Given the description of an element on the screen output the (x, y) to click on. 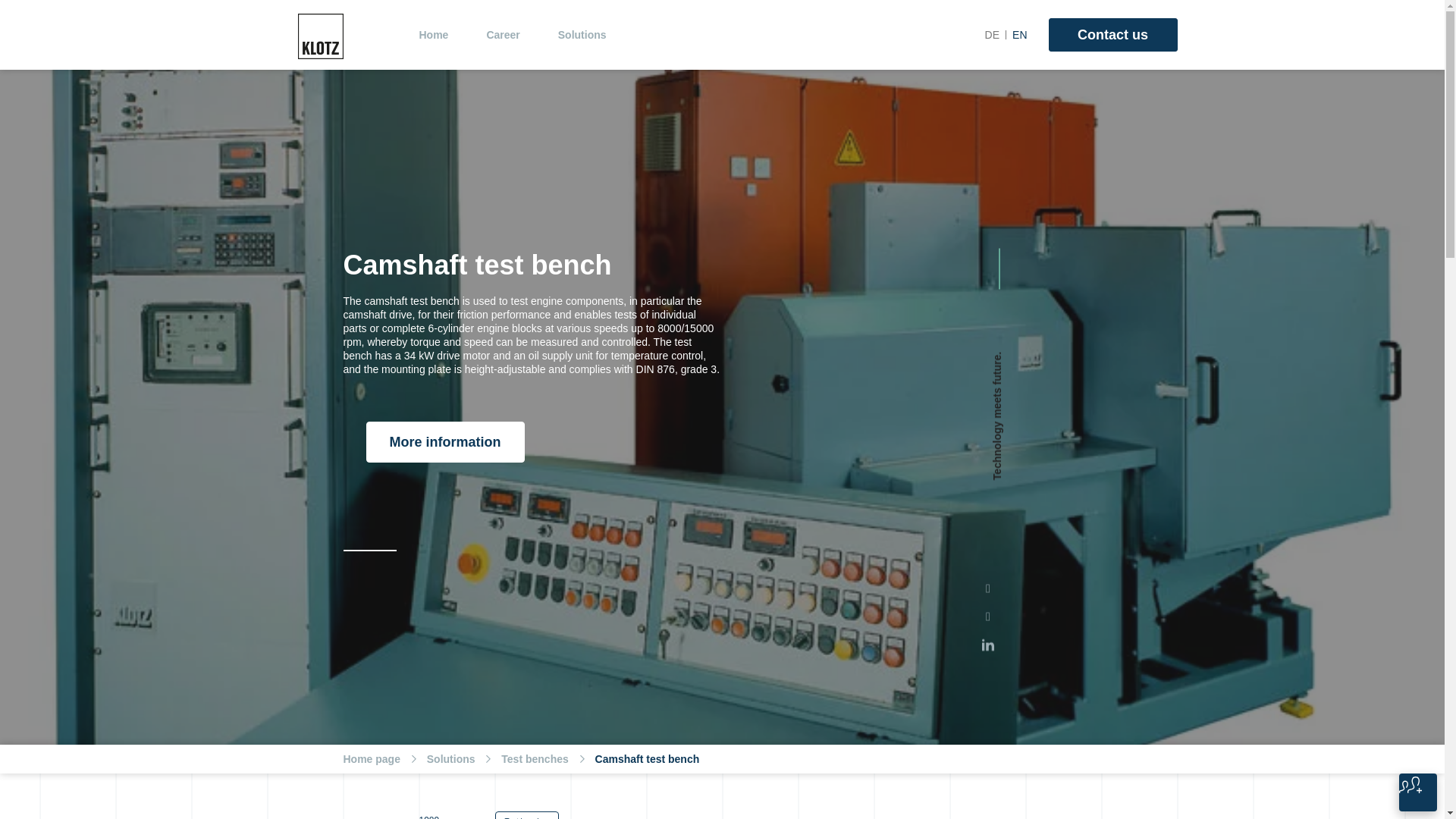
Job advertisements (1418, 792)
Career (502, 34)
Solutions (582, 34)
Contact us (1112, 34)
